Given the description of an element on the screen output the (x, y) to click on. 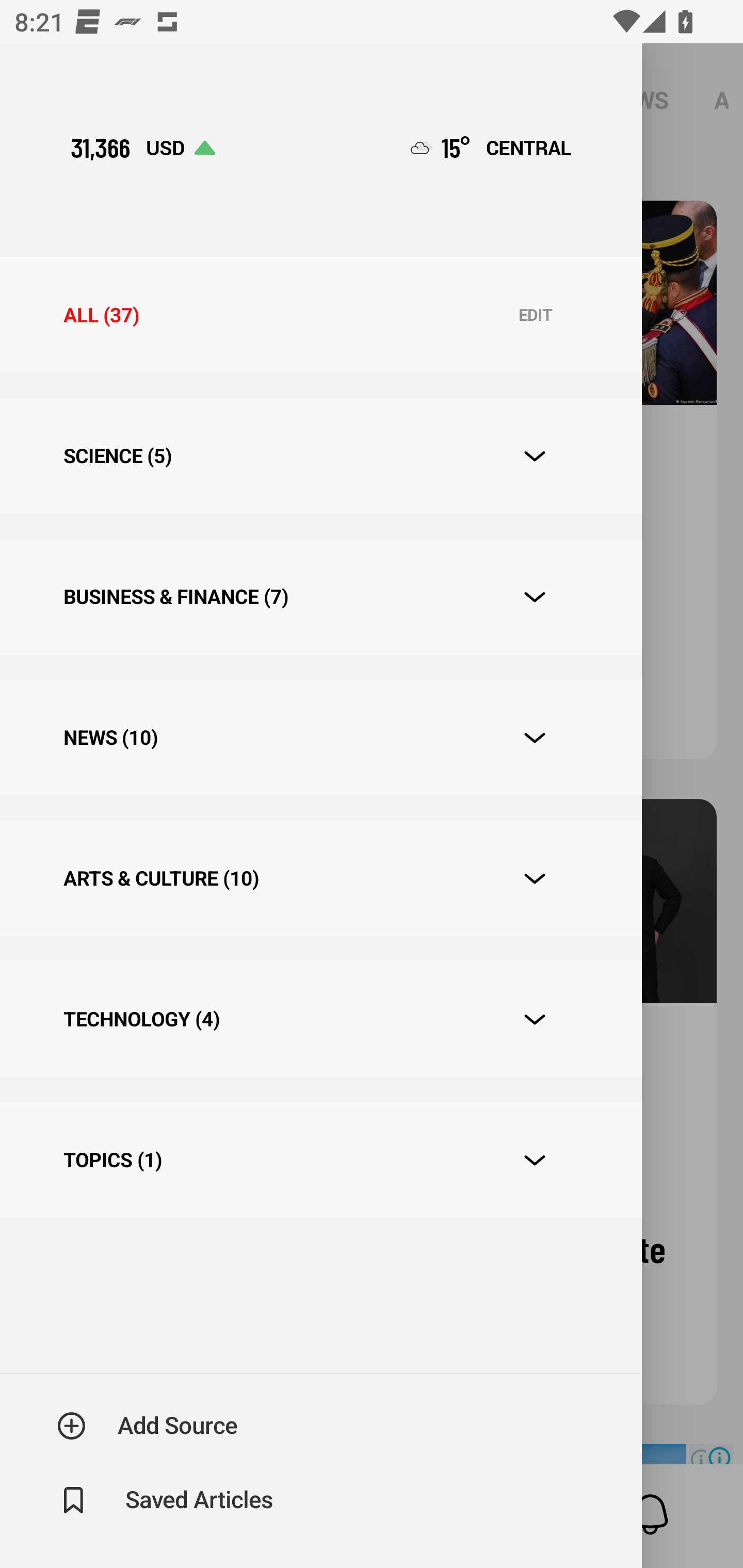
31,366 USD Current State of the Currency (142, 147)
Current State of the Weather 15° CENTRAL (490, 147)
ALL  (37) EDIT (320, 315)
EDIT (534, 315)
SCIENCE  (5) Expand Button (320, 456)
Expand Button (534, 456)
BUSINESS & FINANCE  (7) Expand Button (320, 596)
Expand Button (534, 597)
NEWS  (10) Expand Button (320, 737)
Expand Button (534, 737)
ARTS & CULTURE  (10) Expand Button (320, 878)
Expand Button (534, 878)
TECHNOLOGY  (4) Expand Button (320, 1019)
Expand Button (534, 1019)
TOPICS  (1) Expand Button (320, 1160)
Expand Button (534, 1160)
Open Content Store Add Source (147, 1425)
Open Saved News  Saved Articles (166, 1500)
